Given the description of an element on the screen output the (x, y) to click on. 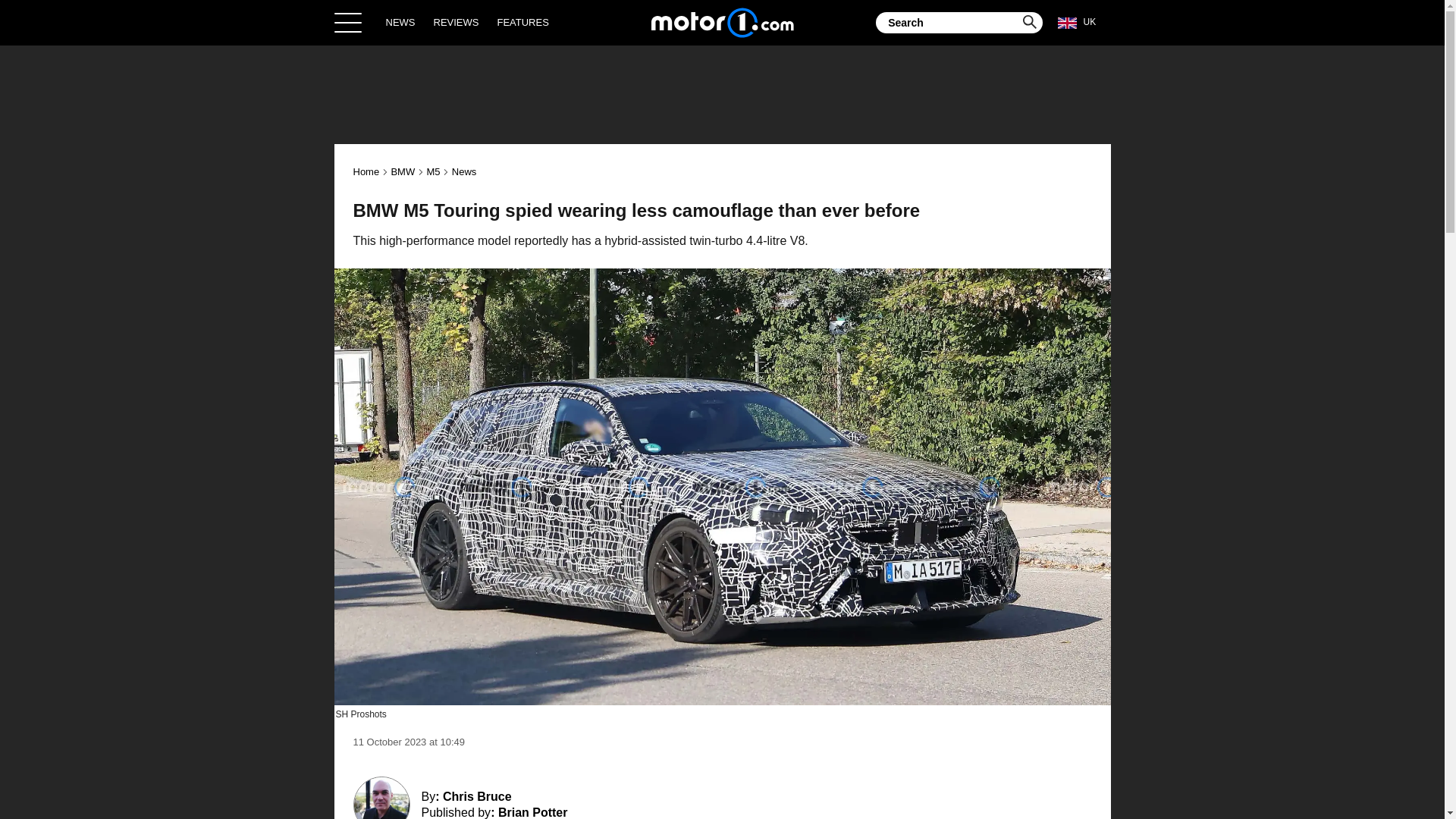
News (464, 171)
Home (366, 171)
M5 (432, 171)
FEATURES (522, 22)
Brian Potter (532, 812)
BMW (402, 171)
Home (721, 22)
NEWS (399, 22)
REVIEWS (456, 22)
